Given the description of an element on the screen output the (x, y) to click on. 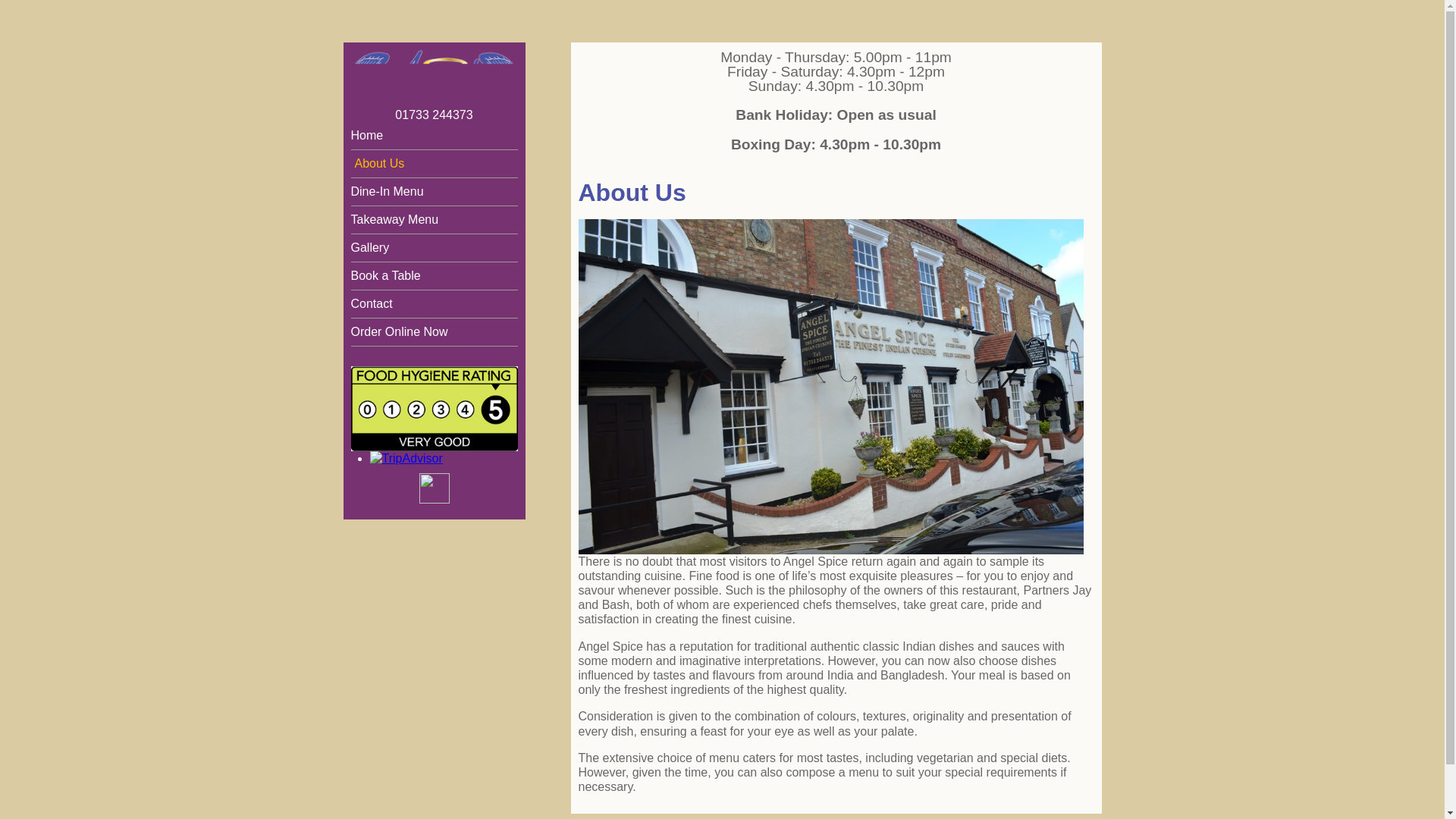
Contact (433, 303)
Book a Table (433, 275)
Order Online Now (433, 332)
Gallery (433, 247)
Angel Spice - Stilton Peterborough Cambridgeshire (433, 91)
Home (433, 135)
Takeaway Menu (433, 219)
About Us (433, 163)
Dine-In Menu (433, 191)
